Given the description of an element on the screen output the (x, y) to click on. 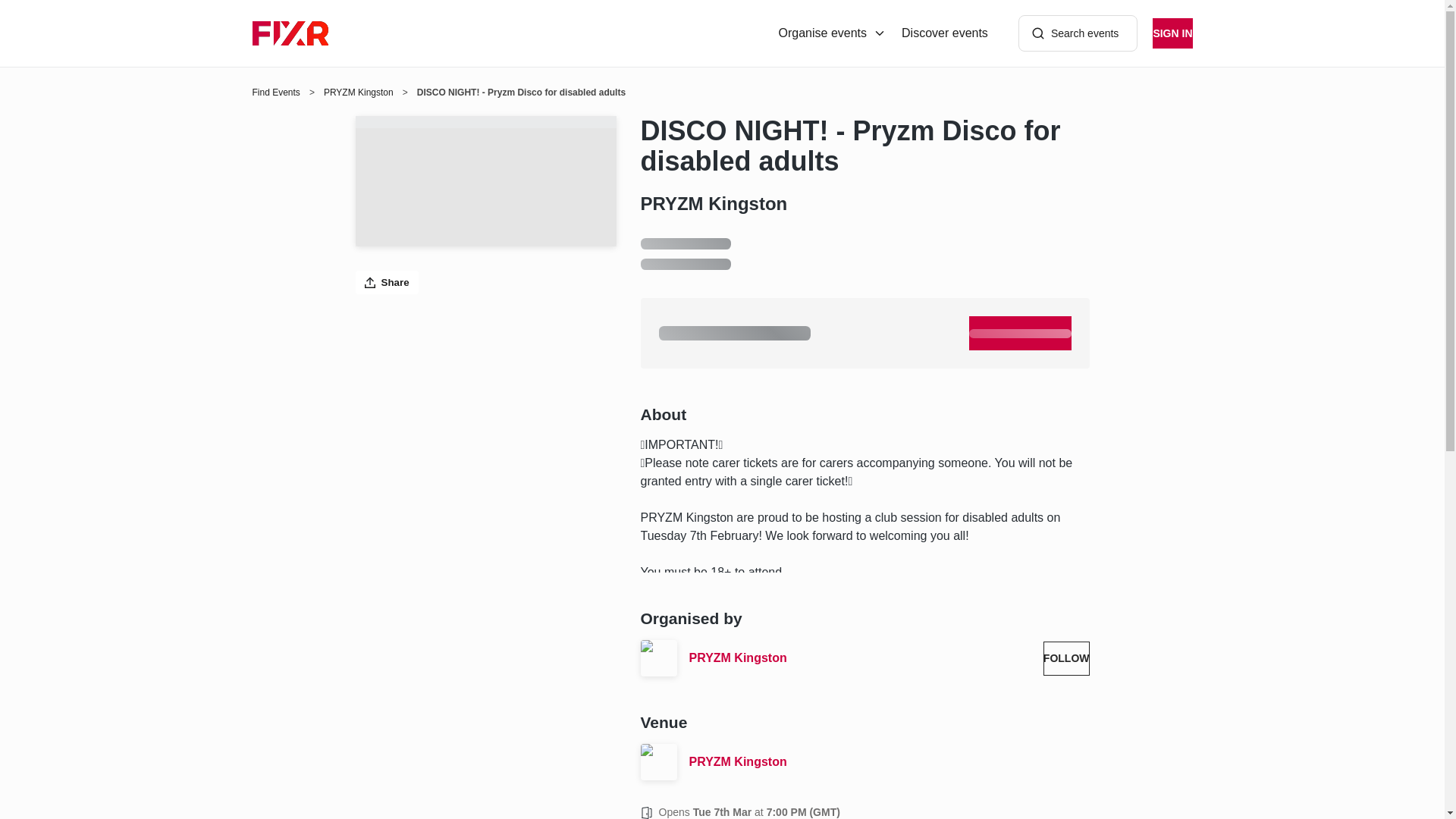
DISCO NIGHT! - Pryzm Disco for disabled adults (864, 146)
Share (386, 282)
PLACEHOLDER TEXT (1020, 333)
PRYZM Kingston (888, 761)
SIGN IN (1172, 33)
FOLLOW (1066, 658)
Search events (1077, 33)
PRYZM Kingston (358, 92)
PRYZM Kingston (859, 658)
Find Events (275, 92)
Discover events (944, 33)
Organise events (832, 33)
